Given the description of an element on the screen output the (x, y) to click on. 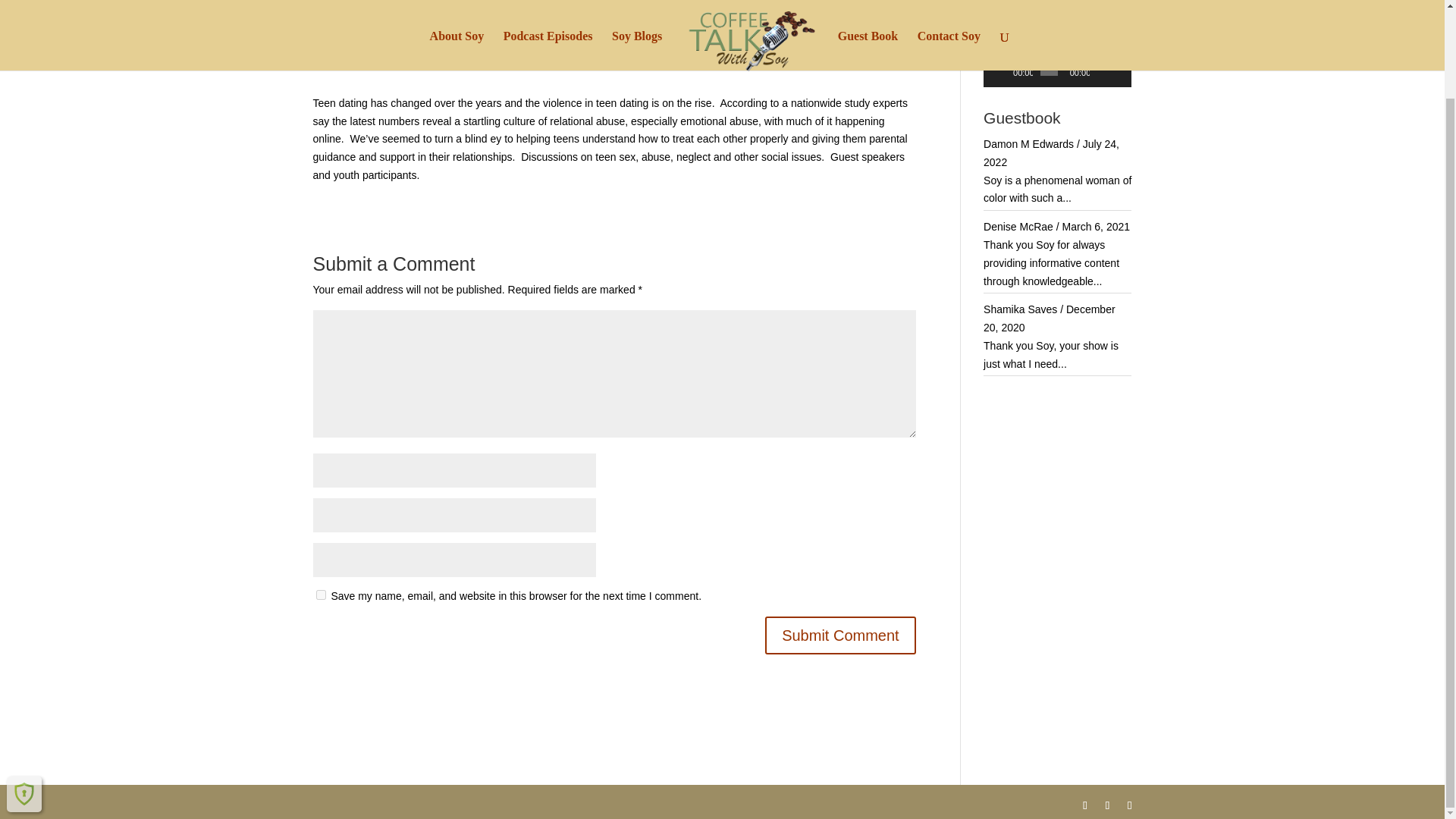
coffeetalkwithsoy (366, 46)
Mute (1101, 71)
Broadcasts (513, 46)
0 comments (577, 46)
Posts by coffeetalkwithsoy (366, 46)
Shield Security (23, 692)
Play (1002, 71)
Submit Comment (840, 635)
Submit Comment (840, 635)
yes (319, 594)
